Given the description of an element on the screen output the (x, y) to click on. 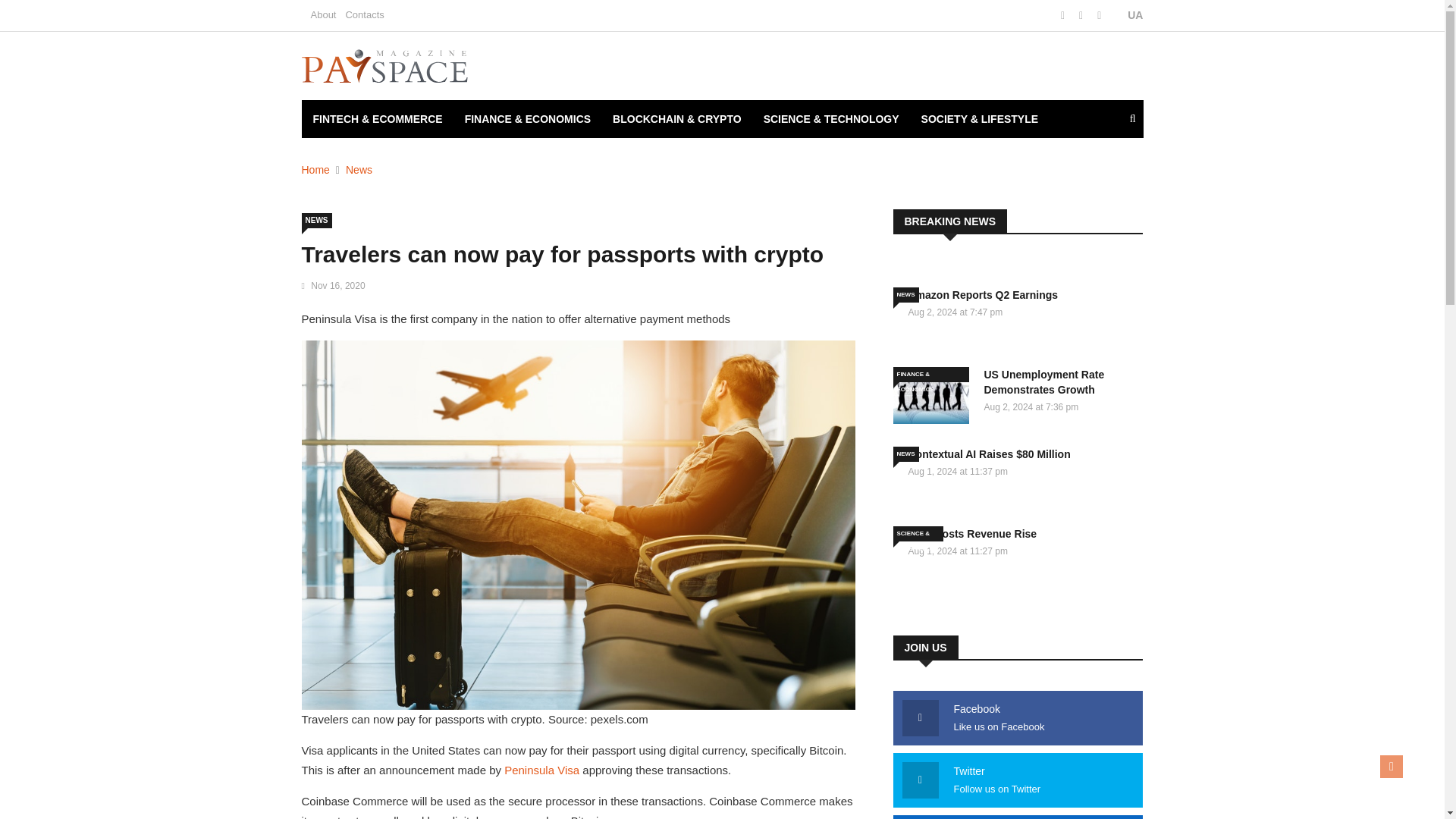
Home (315, 169)
BIN CHECKER (349, 157)
Peninsula Visa (541, 769)
NEWS (316, 220)
Back to Top (1391, 766)
UA (1127, 15)
News (359, 169)
Contacts (364, 14)
About (323, 14)
